Given the description of an element on the screen output the (x, y) to click on. 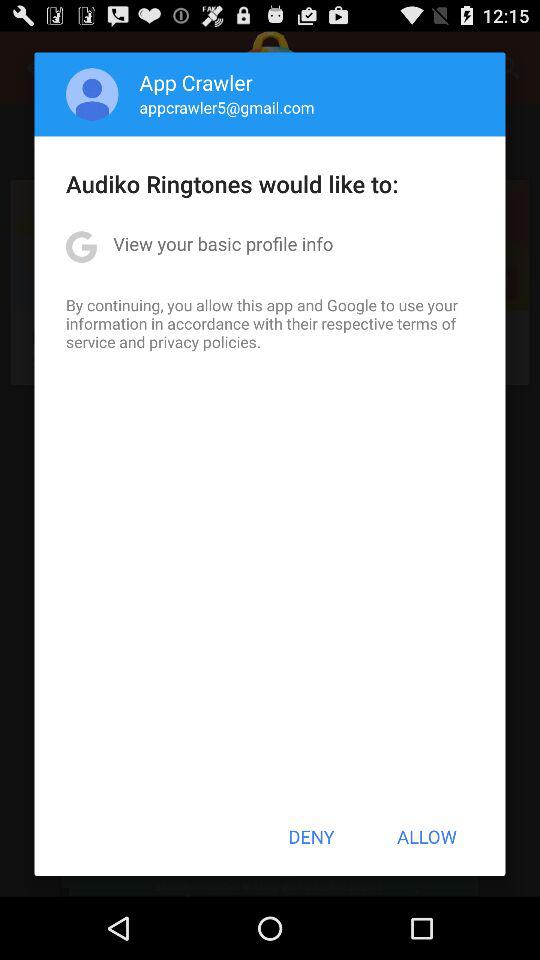
launch the icon above audiko ringtones would item (92, 94)
